Given the description of an element on the screen output the (x, y) to click on. 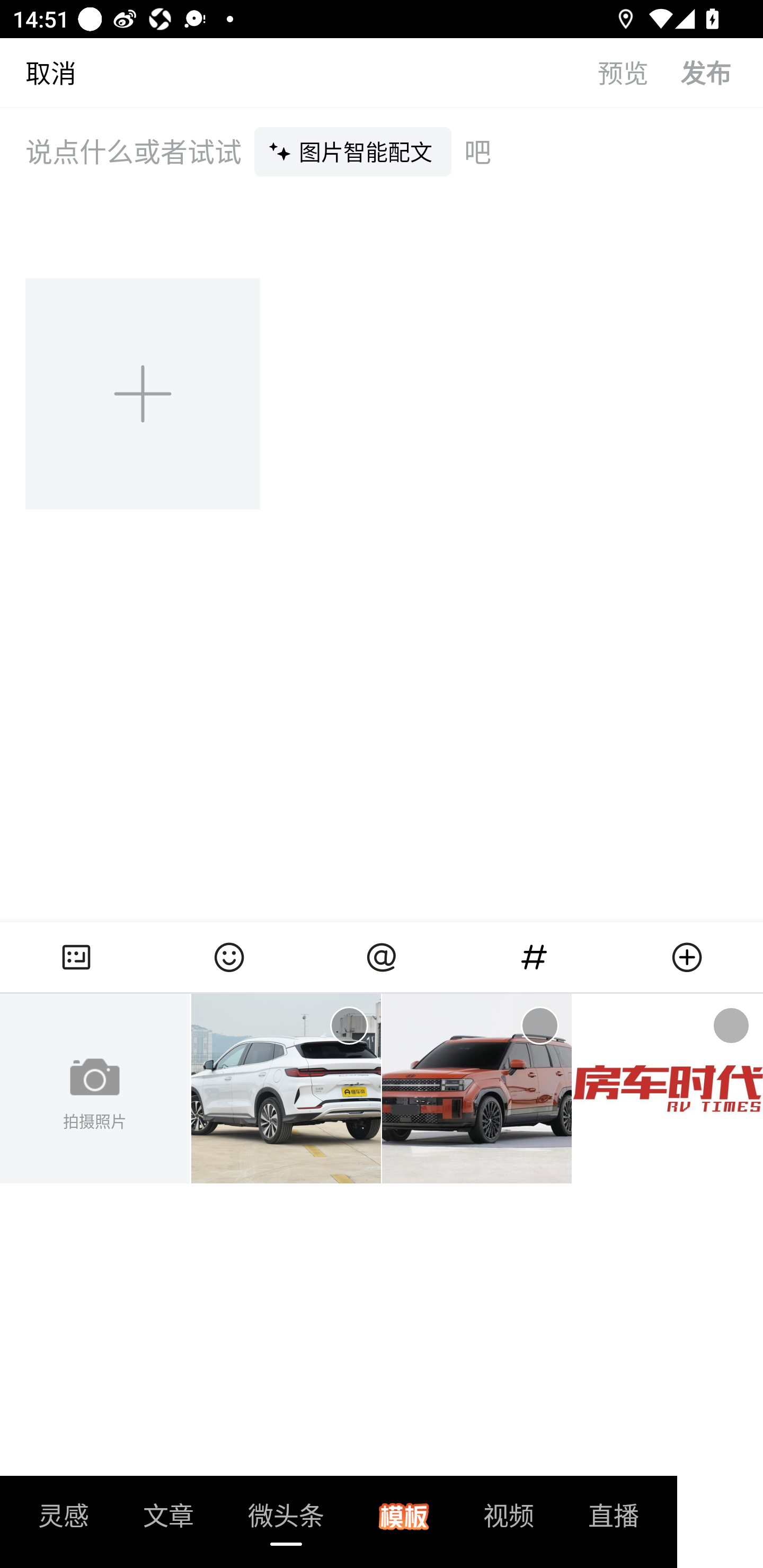
取消 (38, 71)
预览 (638, 71)
发布 (721, 71)
图片智能配文 (352, 151)
添加图片 (144, 393)
相册 (76, 956)
表情 (228, 956)
at (381, 956)
话题 (533, 956)
更多 (686, 956)
拍摄照片 (94, 1088)
图片1 (285, 1088)
未选中 (348, 1025)
图片2 (476, 1088)
未选中 (539, 1025)
图片3 (668, 1088)
未选中 (731, 1025)
灵感 (63, 1521)
文章 (168, 1521)
微头条 (285, 1521)
视频 (508, 1521)
直播 (613, 1521)
